Given the description of an element on the screen output the (x, y) to click on. 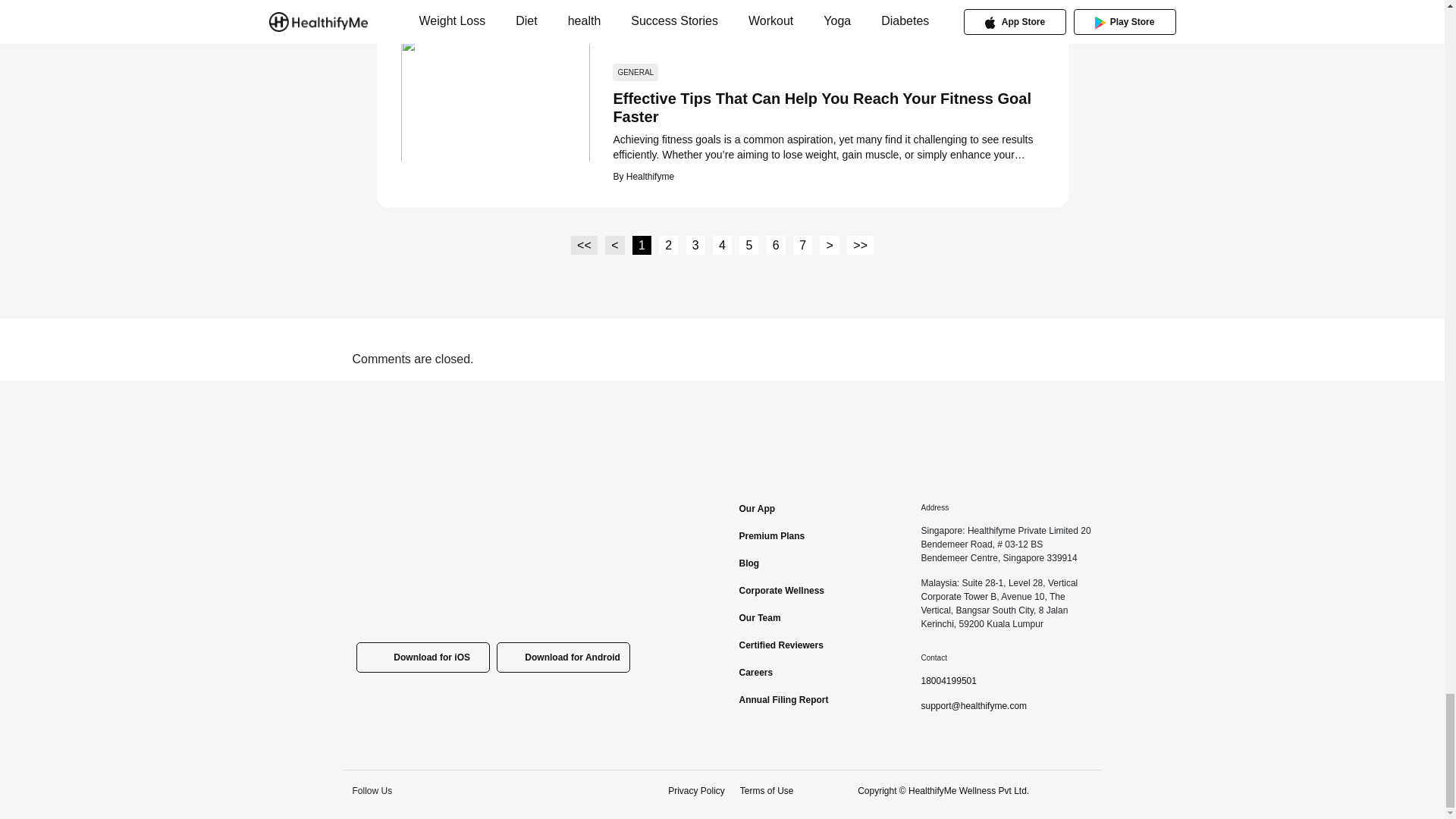
Download for Android (563, 657)
Download for iOS (422, 656)
Download for iOS (422, 657)
Download for Android (563, 656)
Healthifyme (648, 176)
